Given the description of an element on the screen output the (x, y) to click on. 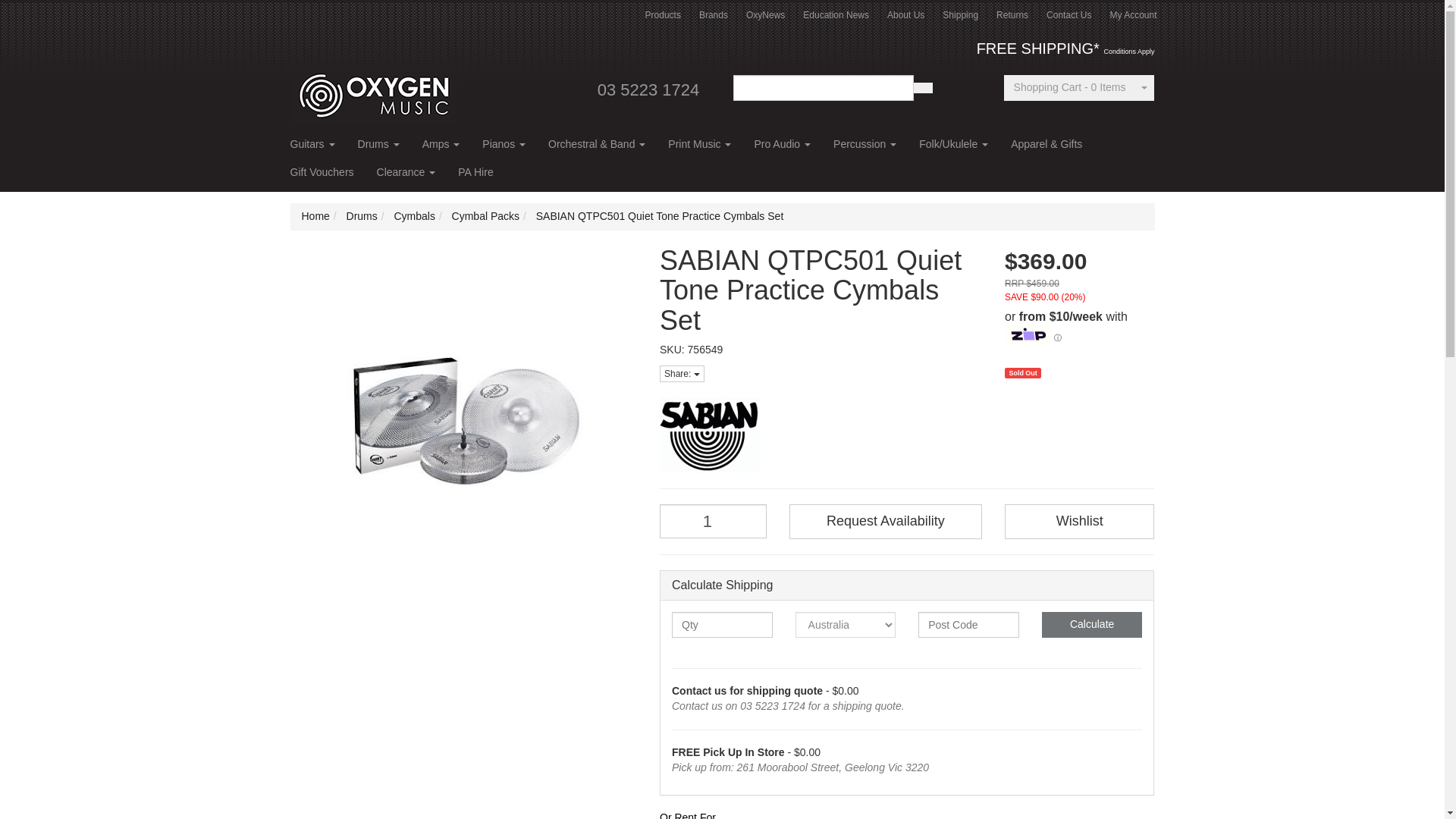
My Account (1133, 15)
Guitars (312, 148)
About Us (905, 15)
OxyNews (764, 15)
Brands (713, 15)
Products (663, 15)
Shipping (960, 15)
Request Availability (885, 521)
Education News (835, 15)
Shopping Cart - 0 Items (1069, 87)
Search (922, 87)
Calculate (1092, 624)
1 (713, 521)
Oxygen Music (373, 90)
Returns (1011, 15)
